Given the description of an element on the screen output the (x, y) to click on. 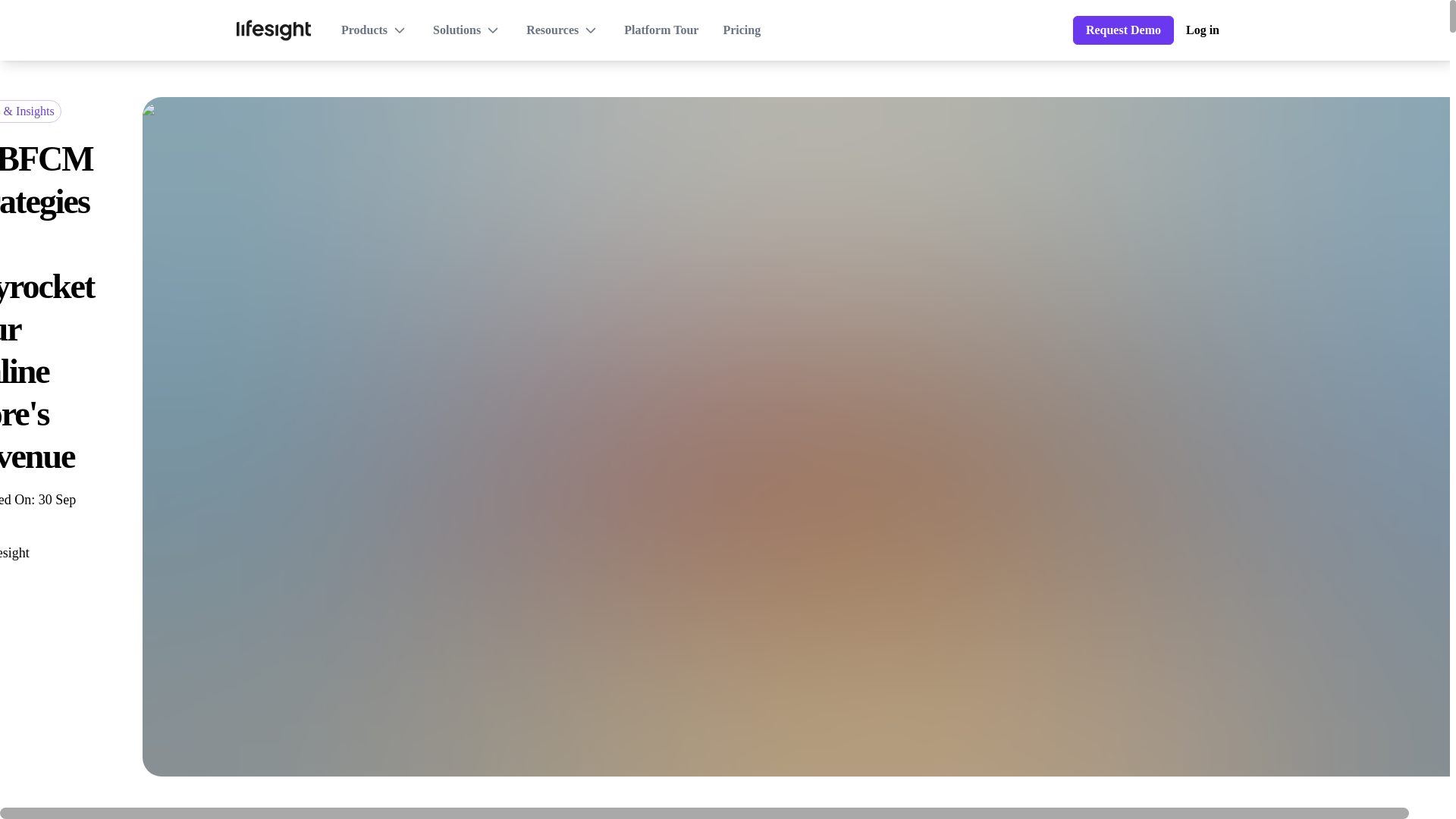
Lifesight (14, 552)
Resources (562, 30)
Pricing (741, 30)
Request Demo (1123, 30)
Platform Tour (661, 30)
Solutions (467, 30)
Log in (1203, 30)
Log in (1203, 29)
